Given the description of an element on the screen output the (x, y) to click on. 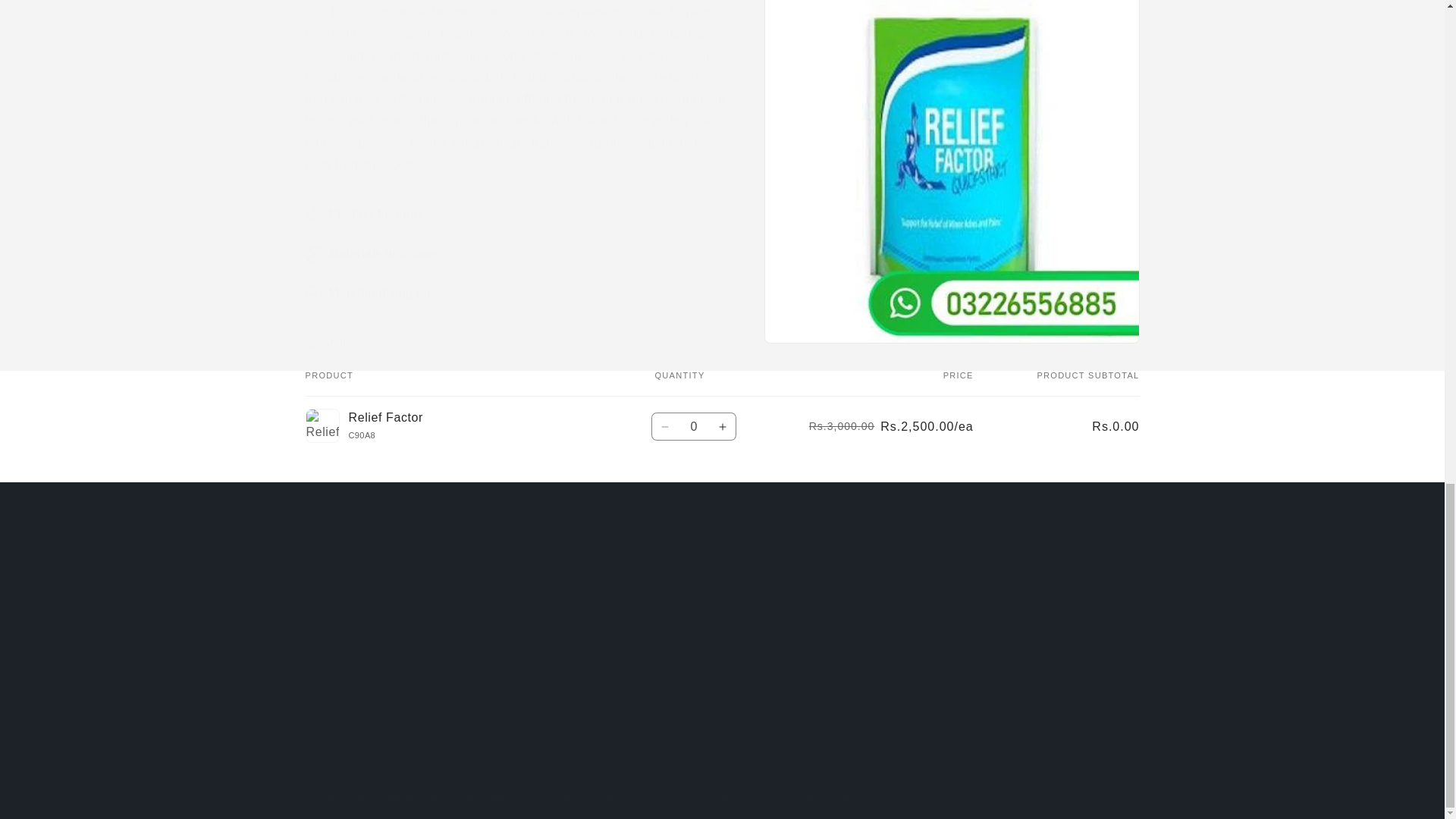
0 (693, 426)
ShopDaraz (363, 798)
Increase quantity for Default Title (723, 426)
Shipping Policy (555, 664)
Contact Information (566, 611)
Contact (534, 691)
Decrease quantity for Default Title (665, 426)
Powered by Shopify (432, 798)
Privacy Policy (551, 637)
Search (533, 586)
